Given the description of an element on the screen output the (x, y) to click on. 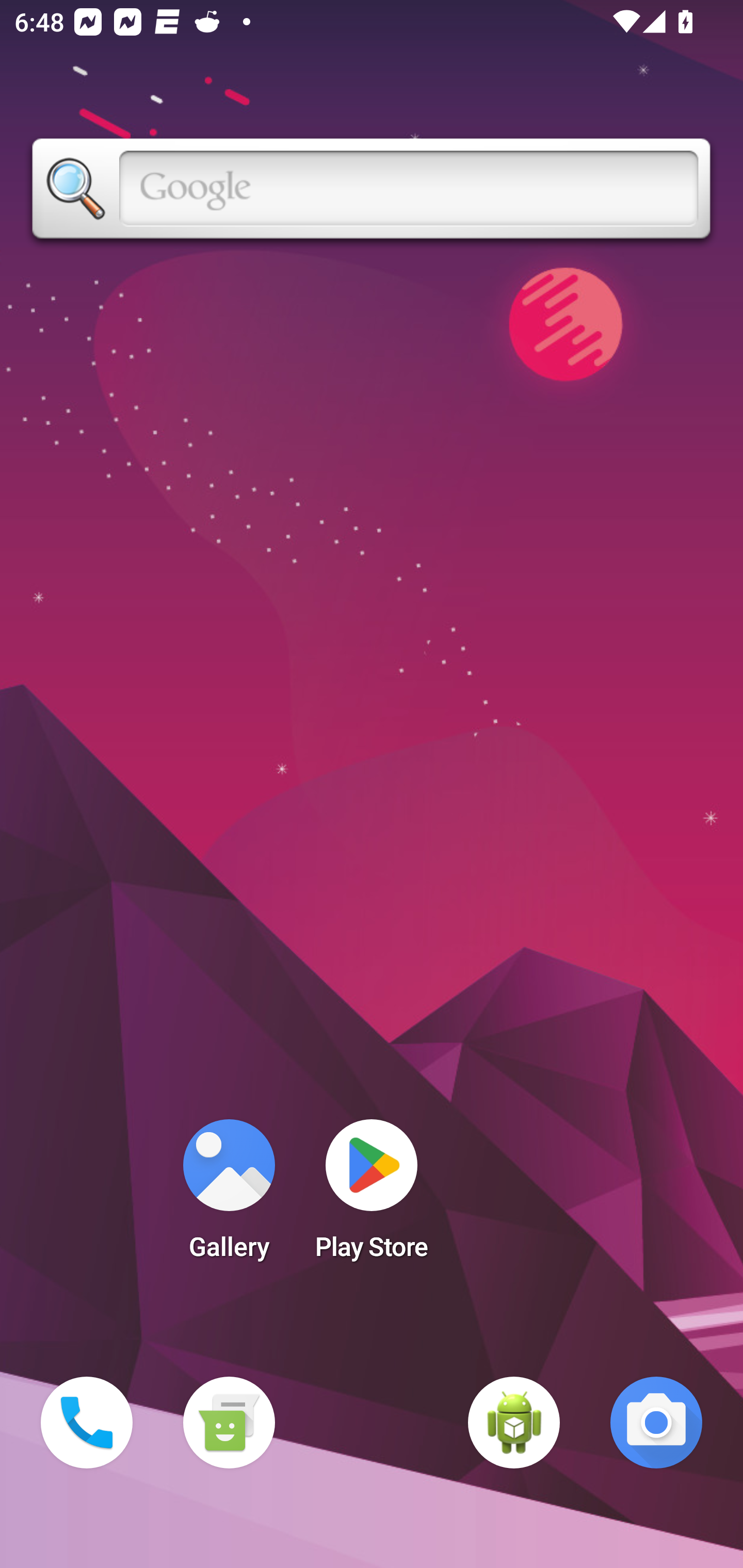
Gallery (228, 1195)
Play Store (371, 1195)
Phone (86, 1422)
Messaging (228, 1422)
WebView Browser Tester (513, 1422)
Camera (656, 1422)
